Given the description of an element on the screen output the (x, y) to click on. 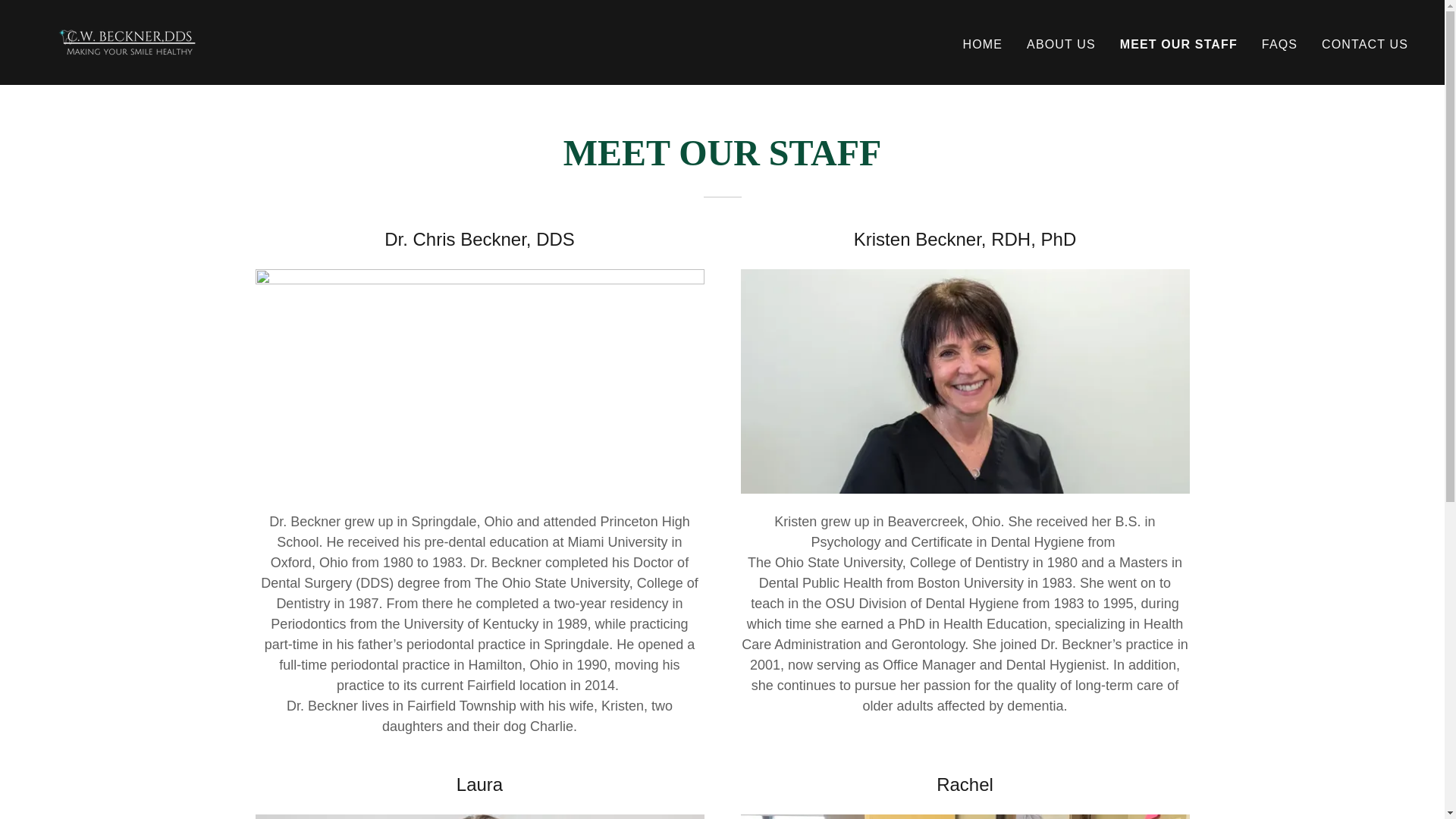
CONTACT US (1364, 43)
Christopher W. Beckner, DDS (127, 41)
ABOUT US (1061, 43)
HOME (982, 43)
MEET OUR STAFF (1178, 44)
FAQS (1279, 43)
